Given the description of an element on the screen output the (x, y) to click on. 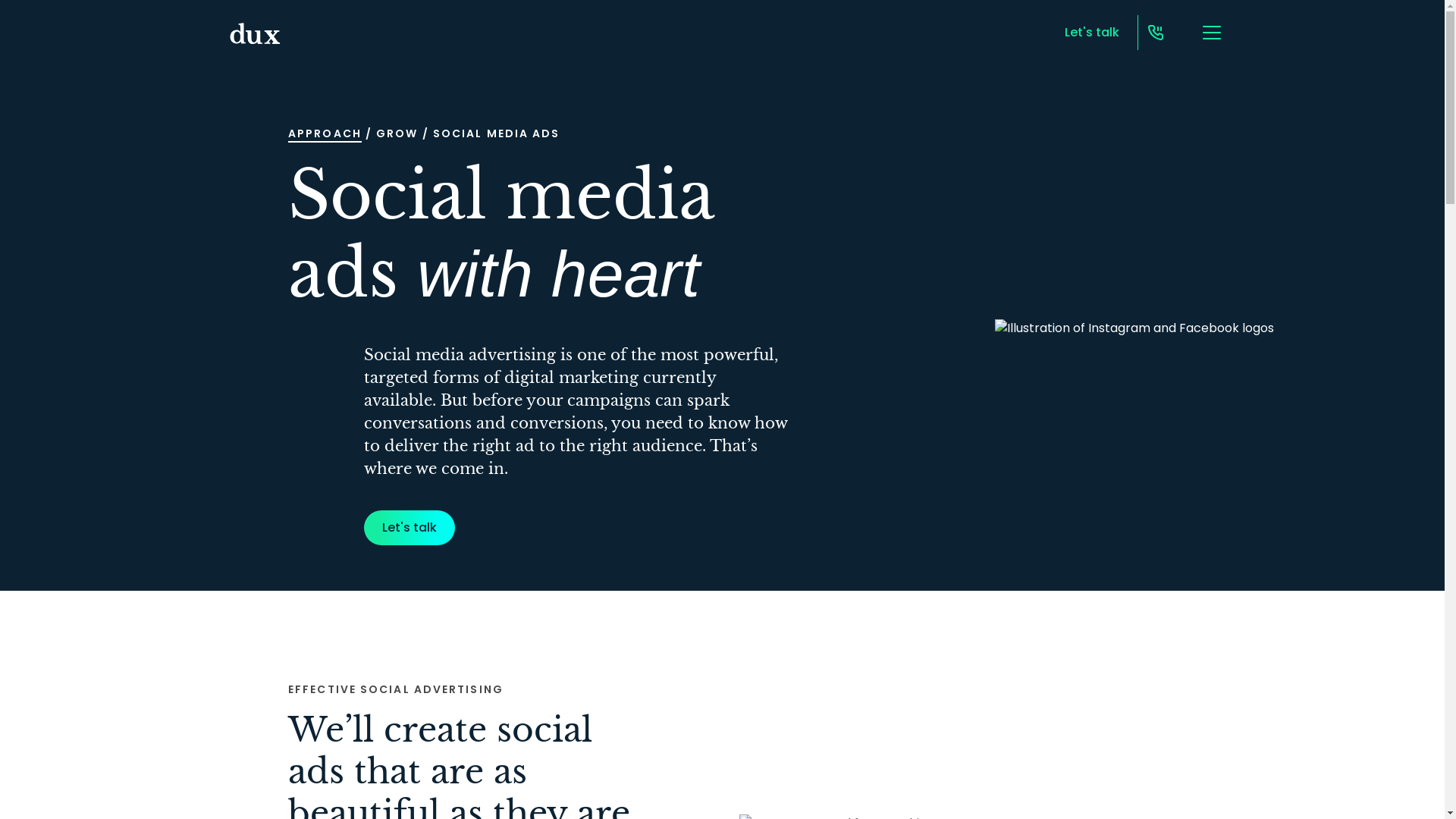
APPROACH Element type: text (324, 133)
Let's talk Element type: text (409, 527)
Let's talk Element type: text (1091, 32)
